Given the description of an element on the screen output the (x, y) to click on. 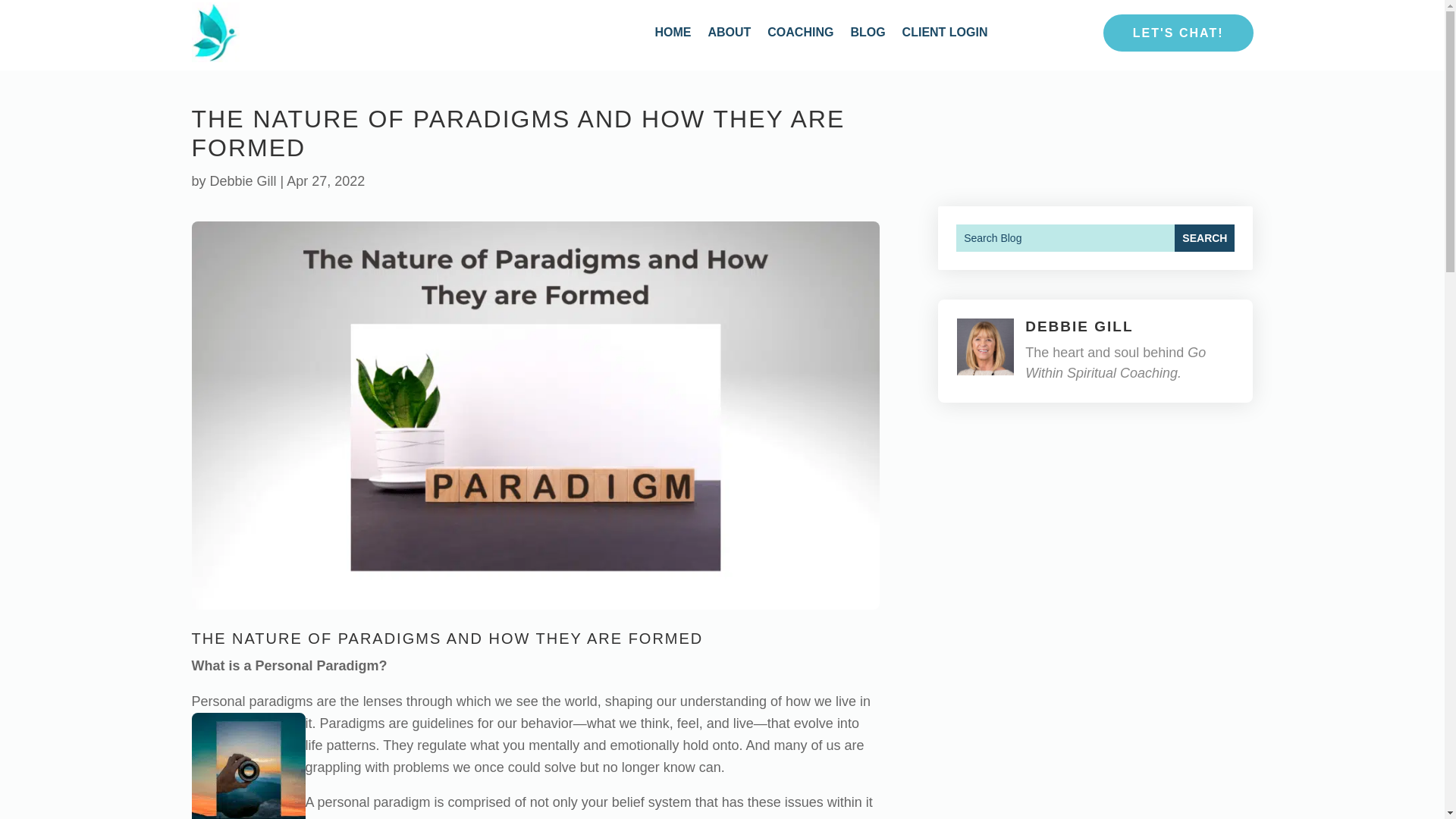
COACHING (799, 32)
Debbie Gill (242, 181)
LET'S CHAT! (1178, 32)
Search (1204, 237)
DEBBIE GILL (1078, 326)
Posts by Debbie Gill (242, 181)
CLIENT LOGIN (945, 32)
Search (1204, 237)
Search (1204, 237)
